Given the description of an element on the screen output the (x, y) to click on. 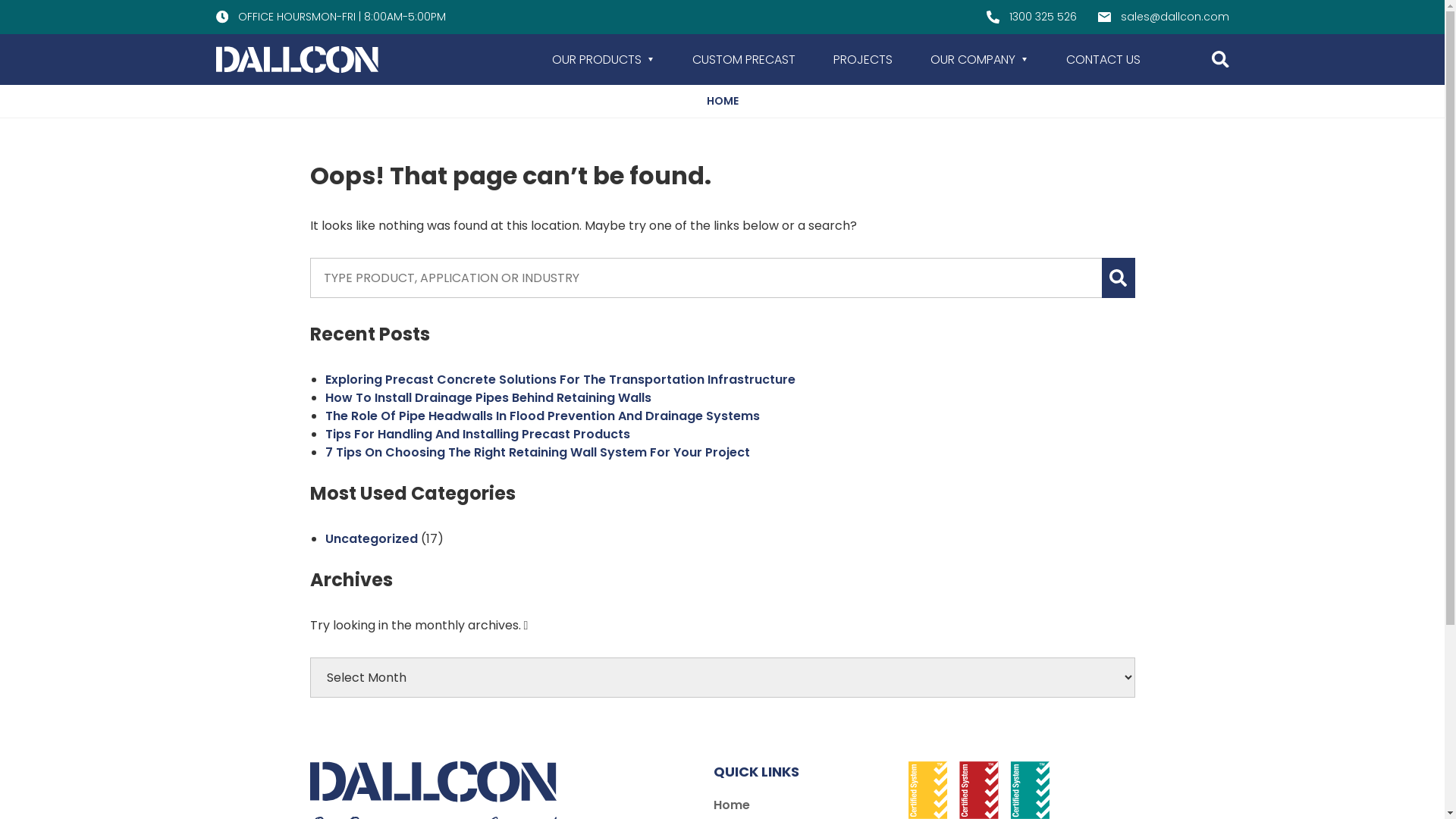
OUR COMPANY Element type: text (978, 59)
sales@dallcon.com Element type: text (1163, 17)
HOME Element type: text (722, 101)
CUSTOM PRECAST Element type: text (742, 59)
Home Element type: text (731, 804)
OUR PRODUCTS Element type: text (603, 59)
PROJECTS Element type: text (861, 59)
CONTACT US Element type: text (1103, 59)
Uncategorized Element type: text (370, 538)
Tips For Handling And Installing Precast Products Element type: text (476, 433)
1300 325 526 Element type: text (1031, 17)
How To Install Drainage Pipes Behind Retaining Walls Element type: text (487, 397)
